Given the description of an element on the screen output the (x, y) to click on. 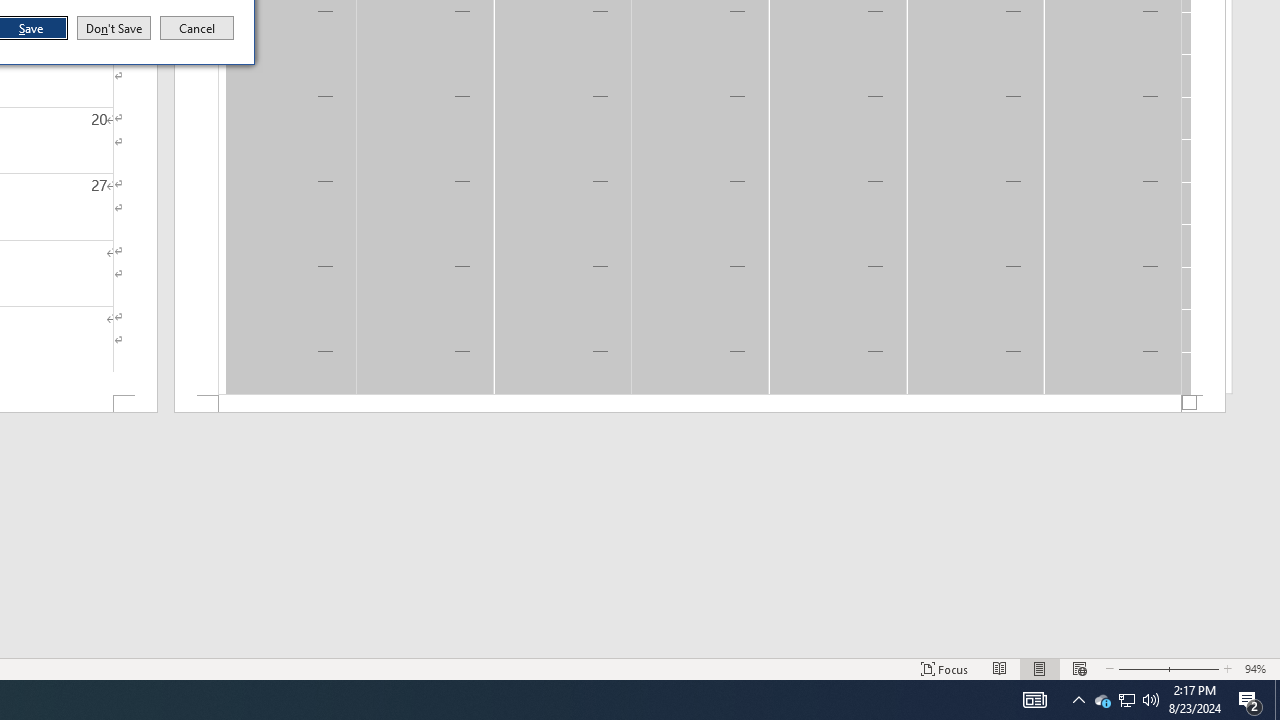
Notification Chevron (1078, 699)
Action Center, 2 new notifications (1126, 699)
Footer -Section 1- (1250, 699)
